Given the description of an element on the screen output the (x, y) to click on. 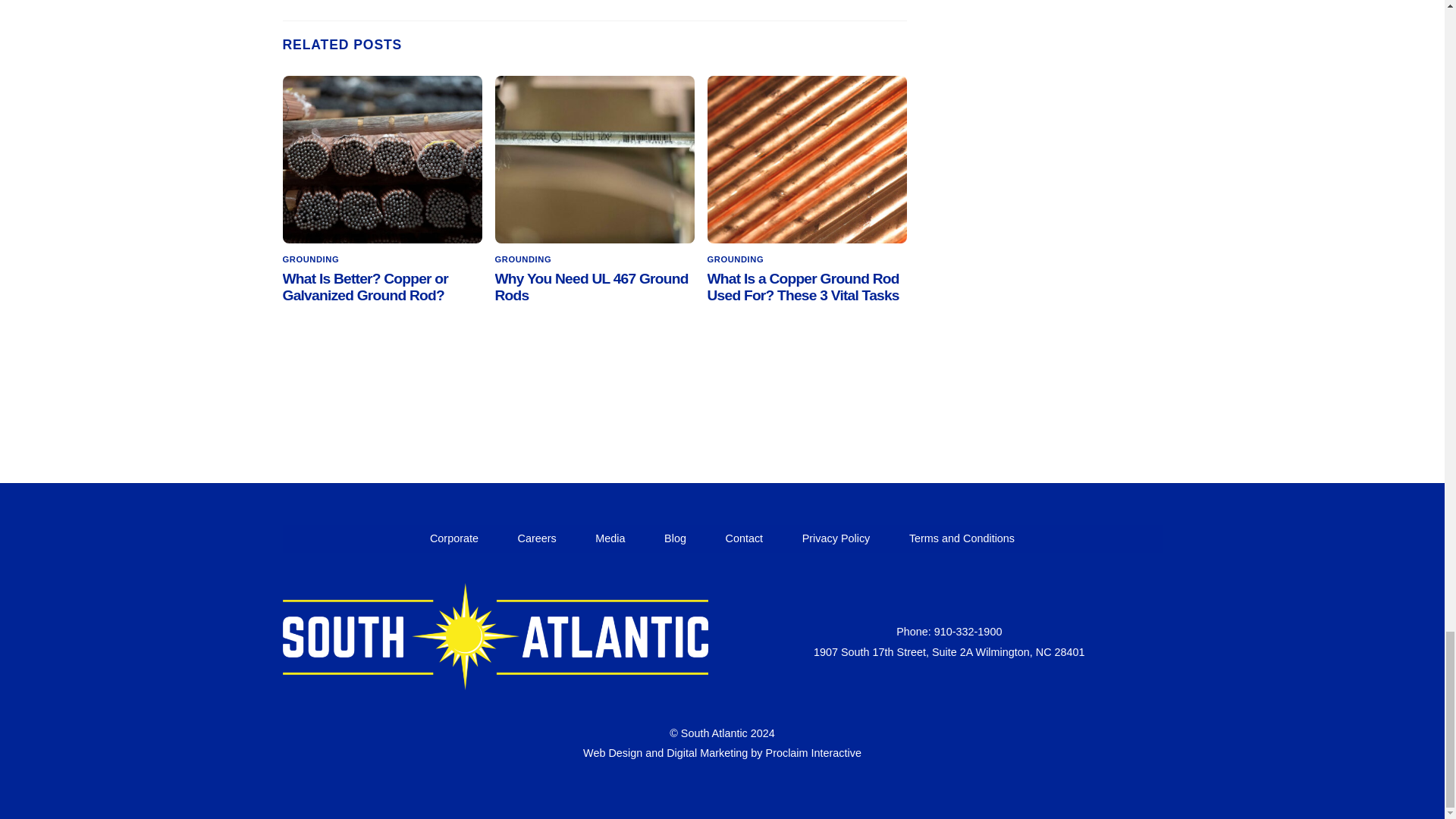
what-is-a-copper-ground-rod-used-for (807, 159)
copper-clad-ground-rod (381, 159)
why-use-UL-467-ground-rods (595, 159)
What Is Better? Copper or Galvanized Ground Rod? (365, 287)
GROUNDING (310, 258)
